Given the description of an element on the screen output the (x, y) to click on. 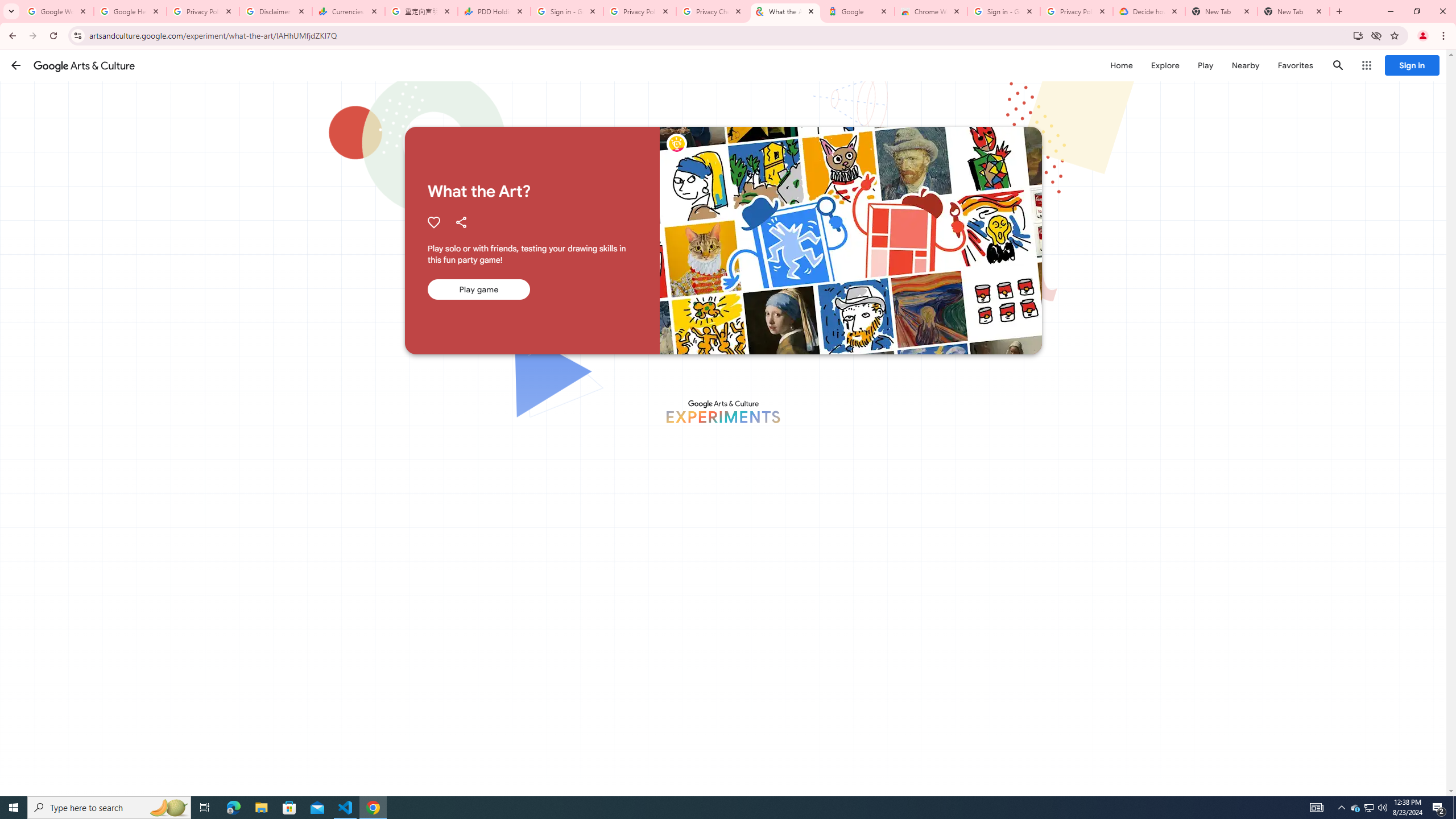
Google Arts & Culture Experiments (722, 411)
Play (1205, 65)
Install Google Arts & Culture (1358, 35)
PDD Holdings Inc - ADR (PDD) Price & News - Google Finance (493, 11)
Favorites (1295, 65)
